Given the description of an element on the screen output the (x, y) to click on. 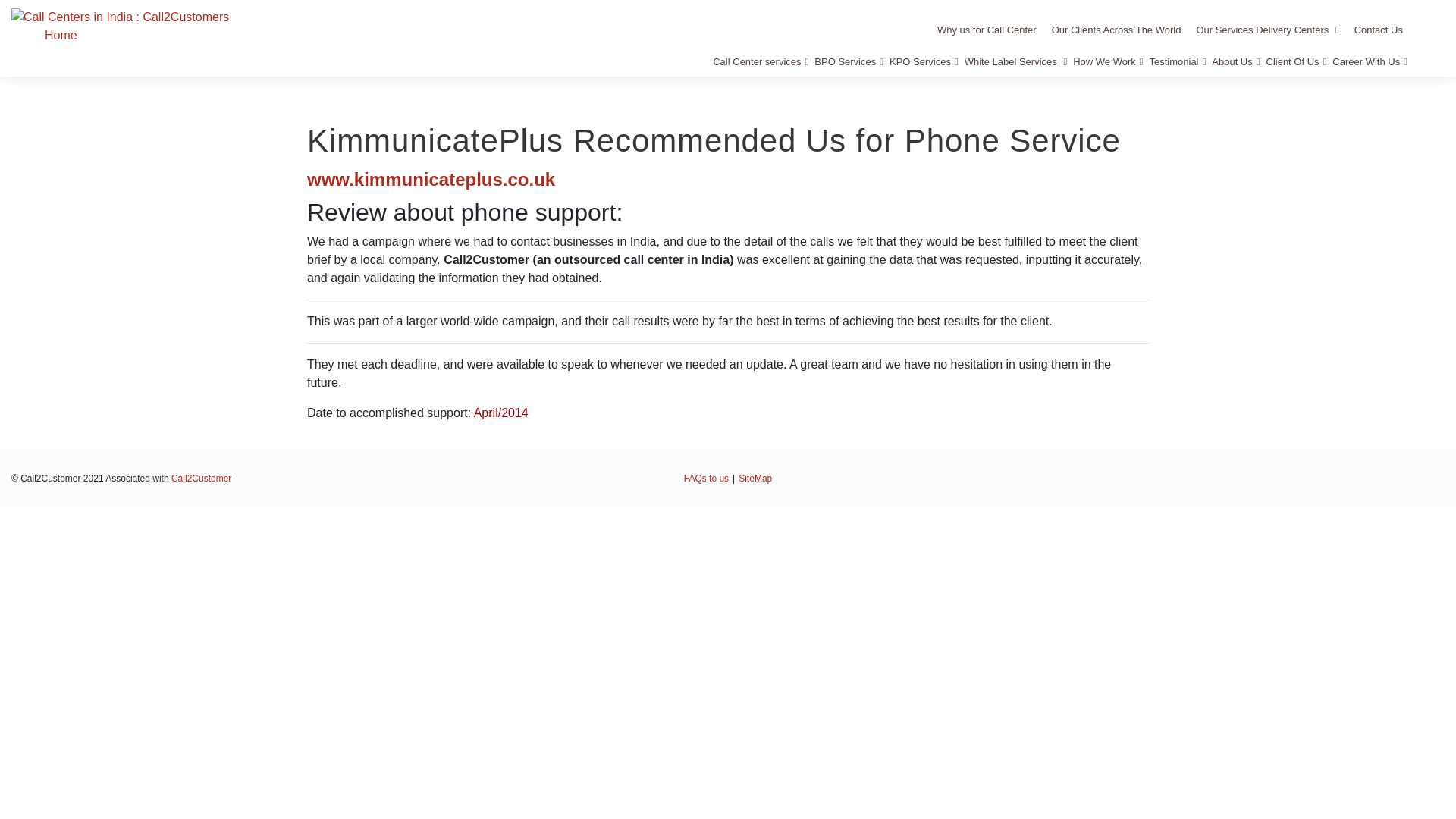
Contact Us (1378, 30)
Home (61, 34)
Our Clients Across The World (1116, 30)
Our Services Delivery Centers (1266, 30)
Call Center services (760, 61)
BPO Services (848, 61)
KPO Services (923, 61)
Call to Customer (119, 17)
White Label Services (1015, 61)
Why us for Call Center (986, 30)
